Given the description of an element on the screen output the (x, y) to click on. 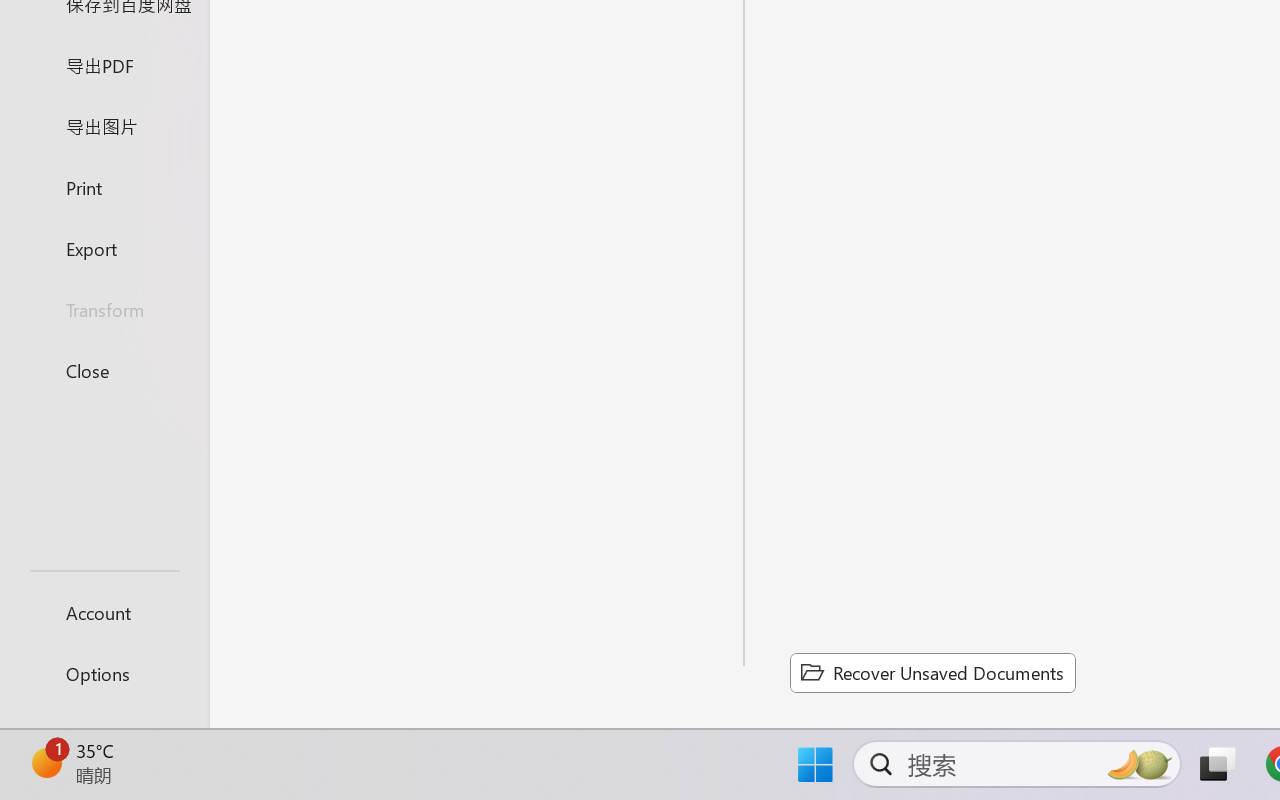
Options (104, 673)
Transform (104, 309)
Account (104, 612)
Recover Unsaved Documents (932, 672)
Print (104, 186)
Export (104, 248)
